Given the description of an element on the screen output the (x, y) to click on. 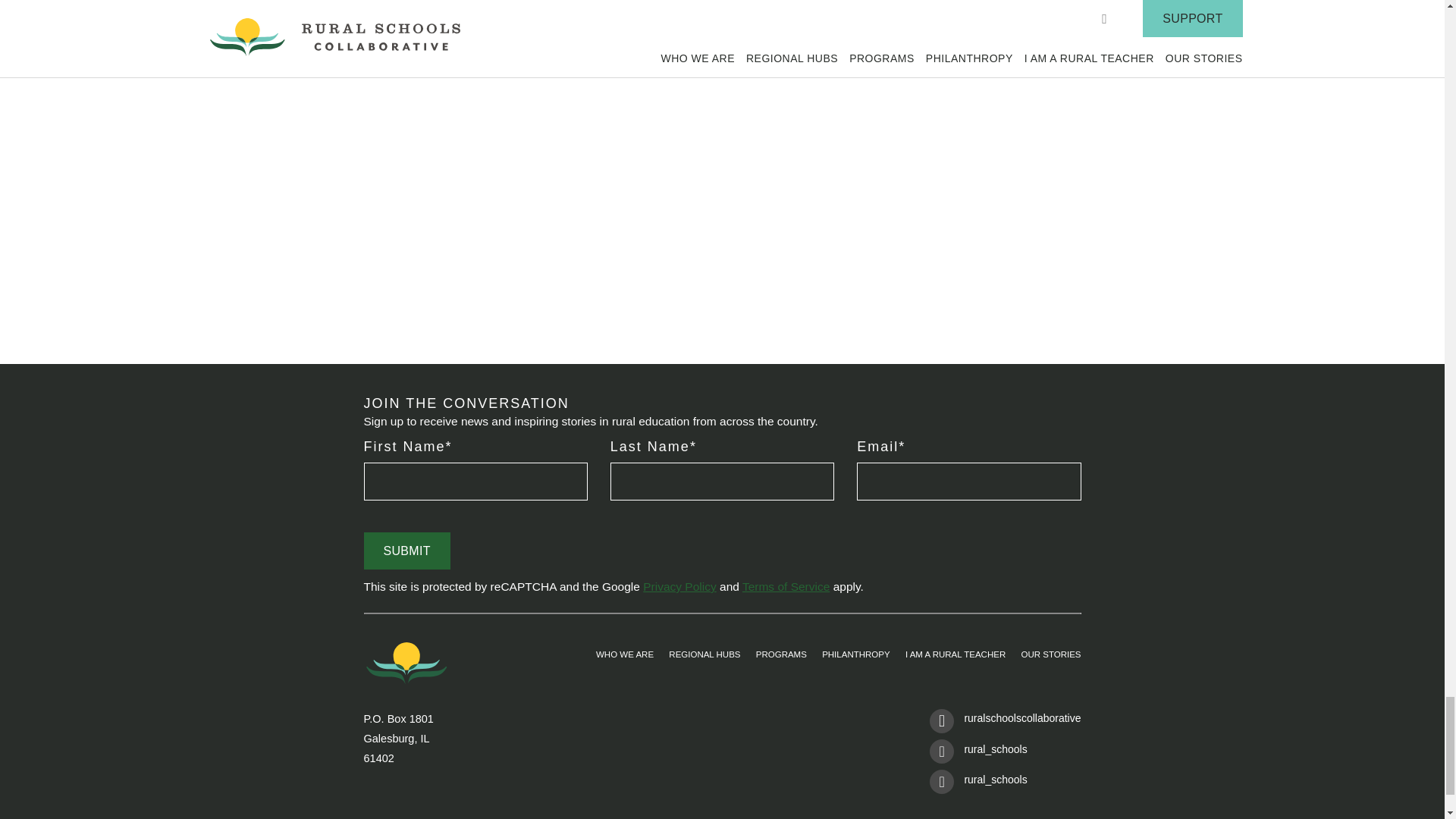
ruralschoolscollaborative (1005, 724)
